Given the description of an element on the screen output the (x, y) to click on. 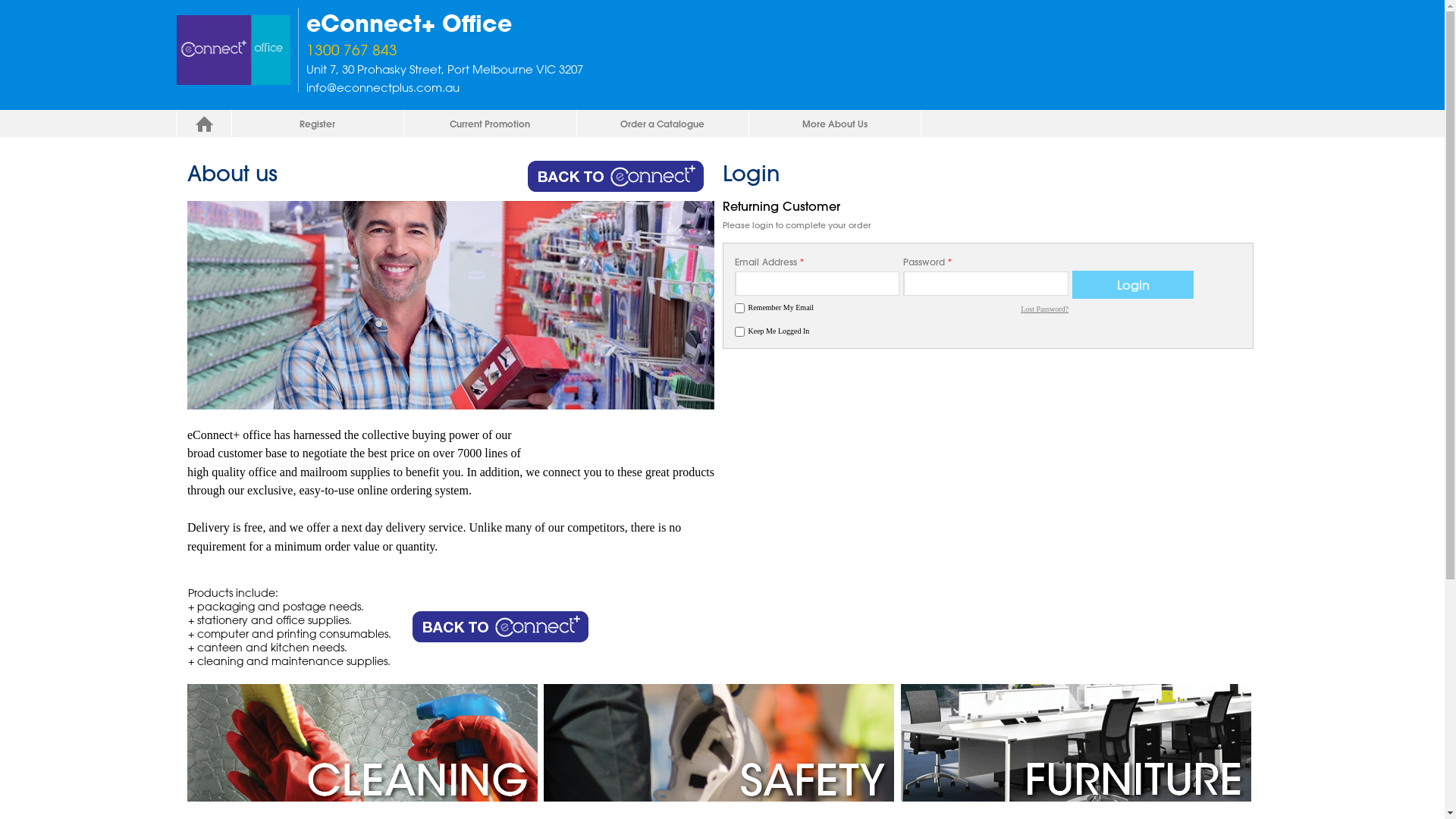
1300 767 843 Element type: text (524, 50)
More About Us Element type: text (834, 123)
Register Element type: text (316, 123)
Order a Catalogue Element type: text (662, 123)
Login Element type: text (1132, 284)
Current Promotion Element type: text (489, 123)
Lost Password? Element type: text (1044, 308)
info@econnectplus.com.au Element type: text (382, 87)
